Given the description of an element on the screen output the (x, y) to click on. 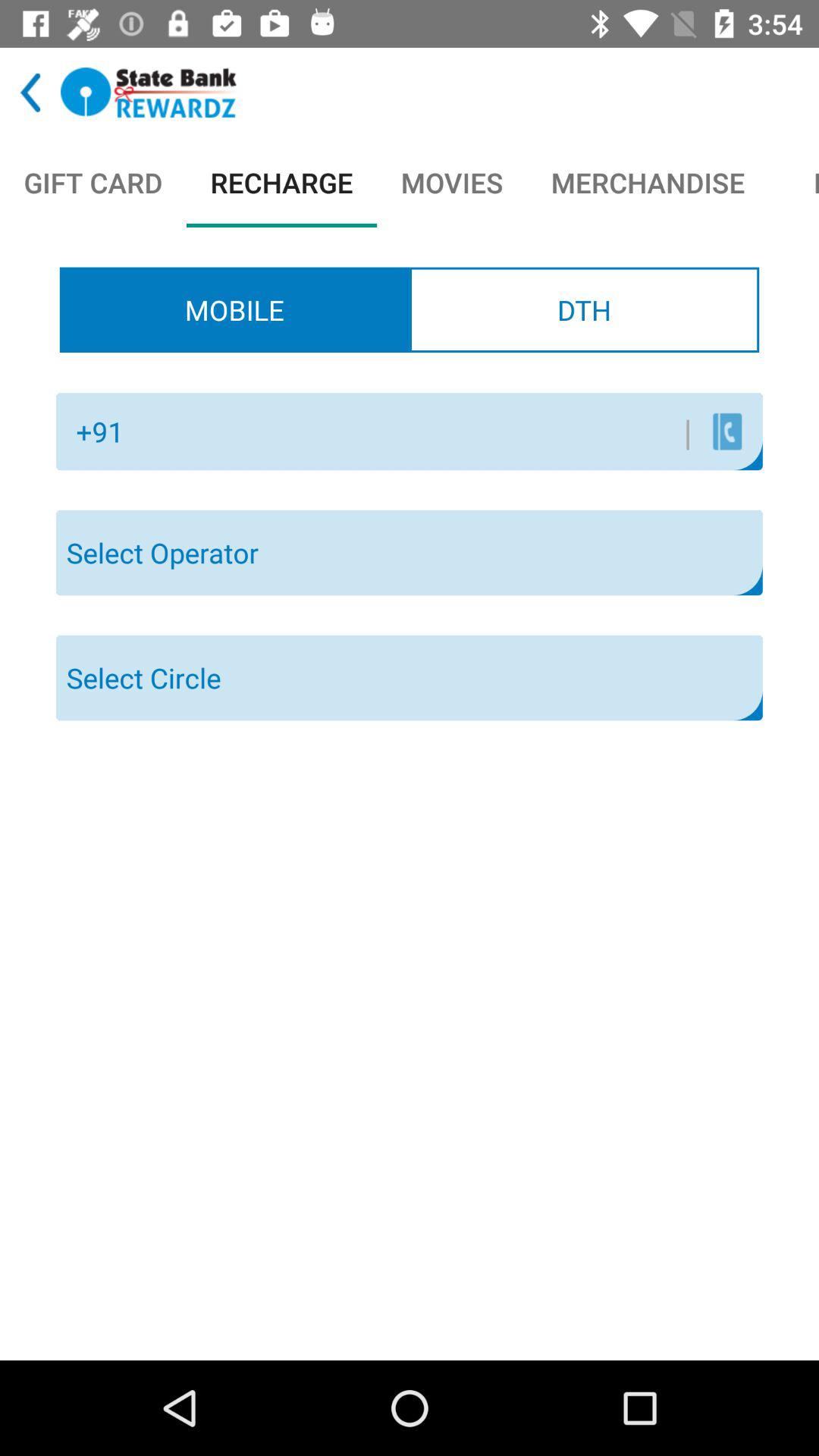
tap to go to webpage (148, 92)
